Given the description of an element on the screen output the (x, y) to click on. 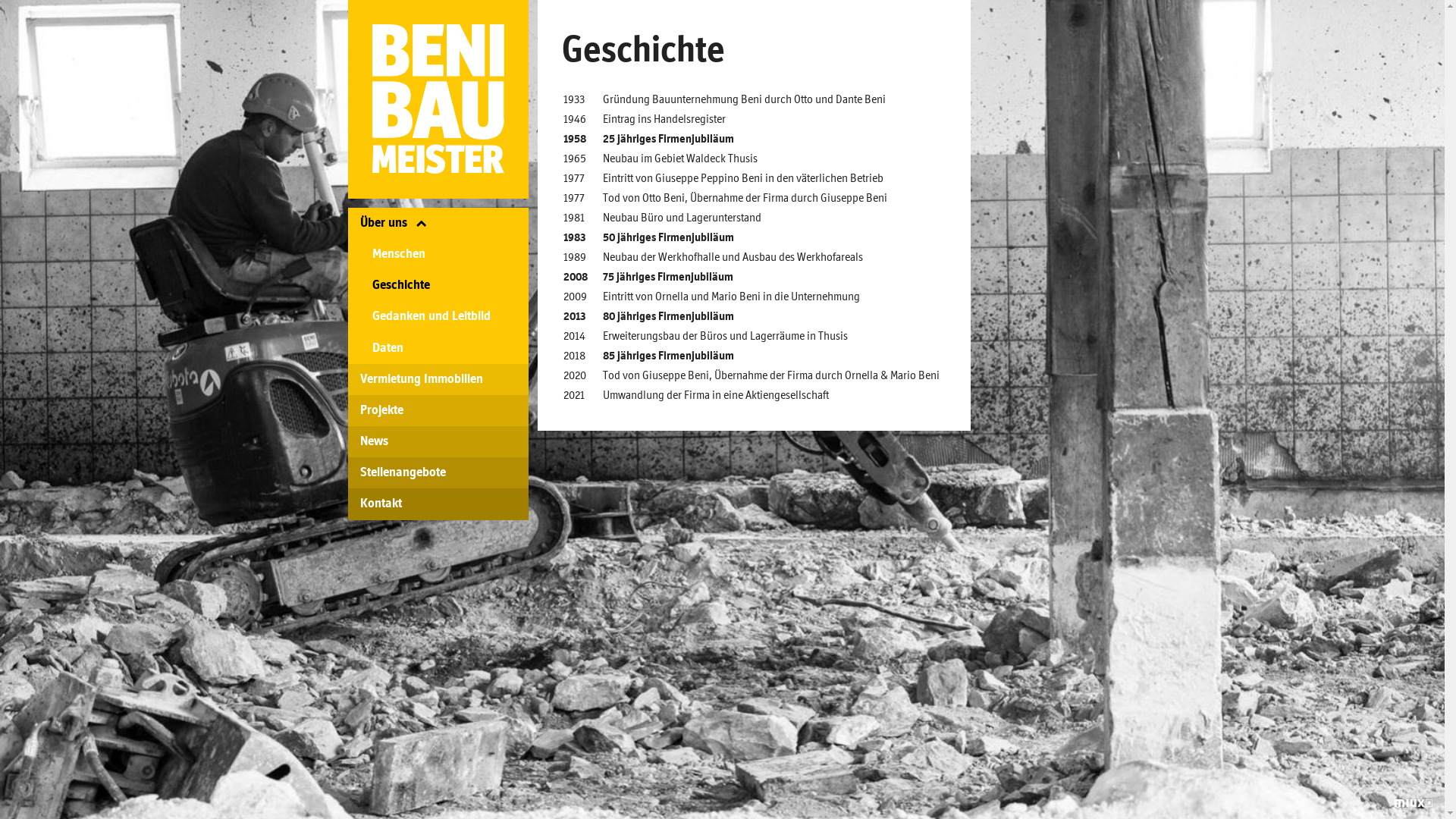
miux.ch Element type: text (1413, 802)
Beni Baumeister Thusis Element type: text (437, 99)
Geschichte Element type: text (437, 285)
Projekte Element type: text (437, 410)
News Element type: text (437, 441)
Menschen Element type: text (437, 253)
Stellenangebote Element type: text (437, 472)
Gedanken und Leitbild Element type: text (437, 316)
Vermietung Immobilien Element type: text (437, 379)
Daten Element type: text (437, 348)
Kontakt Element type: text (437, 503)
